Given the description of an element on the screen output the (x, y) to click on. 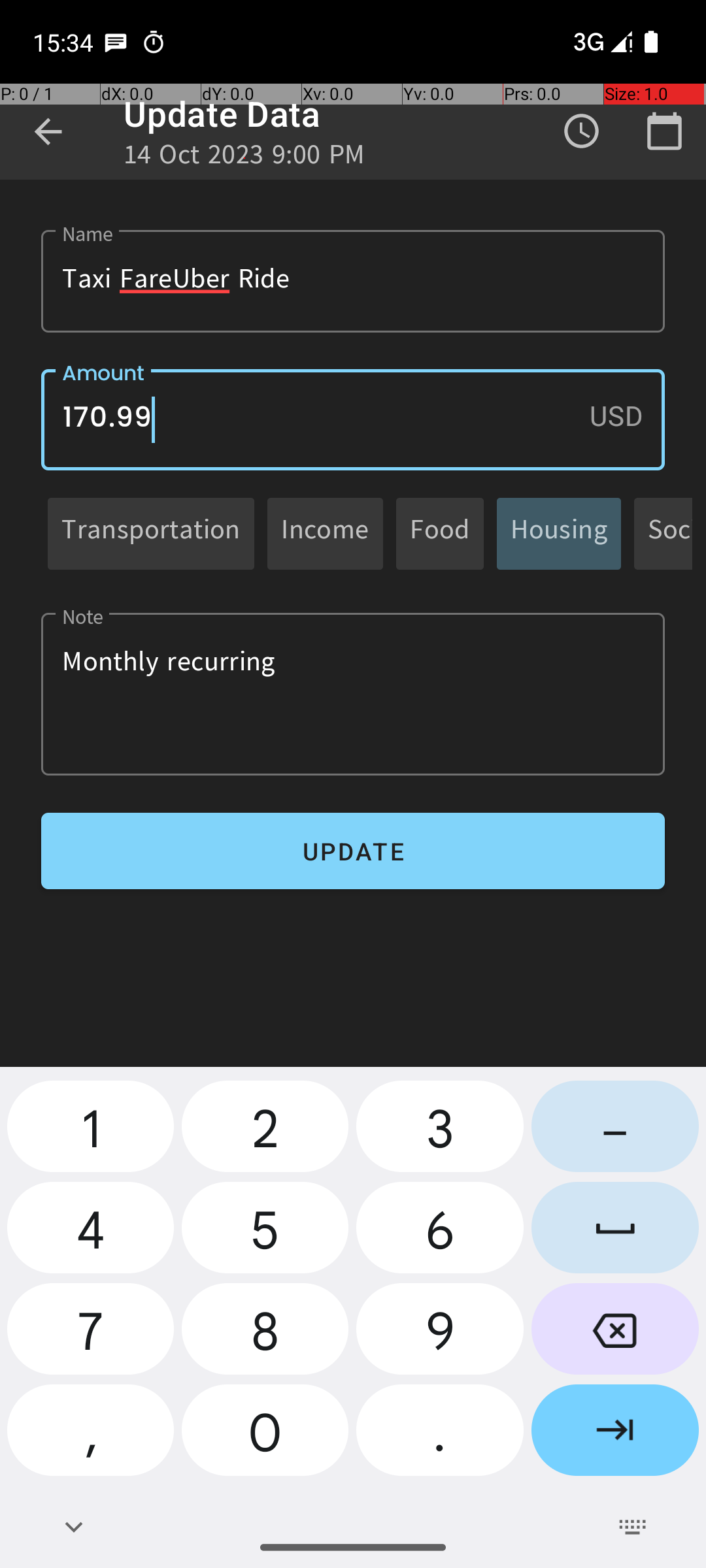
14 Oct 2023 9:00 PM Element type: android.widget.TextView (244, 157)
Taxi FareUber Ride Element type: android.widget.EditText (352, 280)
170.99 Element type: android.widget.EditText (352, 419)
